Given the description of an element on the screen output the (x, y) to click on. 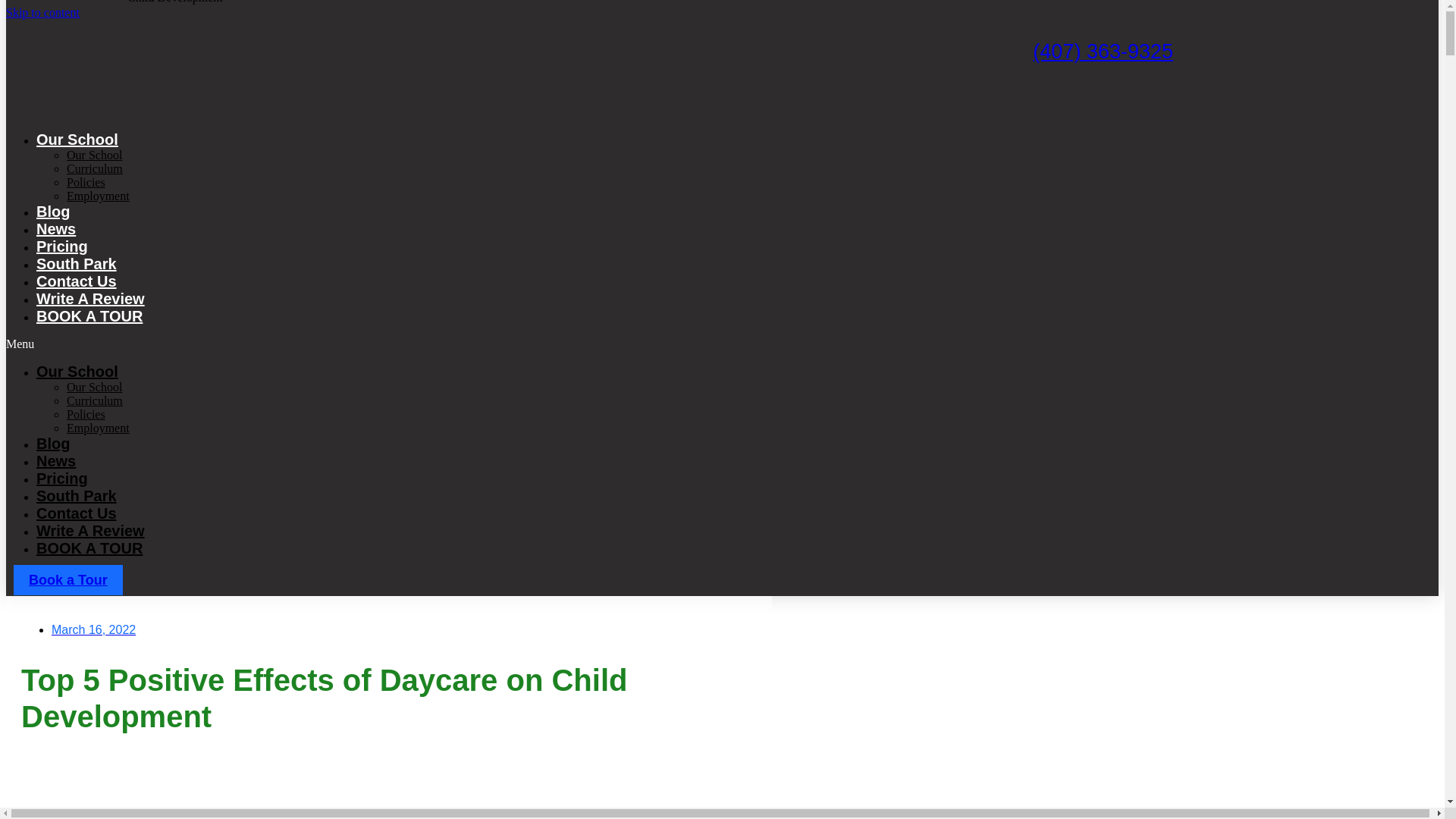
Employment (97, 195)
Pricing (61, 478)
Policies (85, 413)
Our School (94, 386)
News (55, 460)
Write A Review (90, 298)
Write A Review (90, 530)
Employment (97, 427)
Skip to content (42, 11)
Our School (94, 154)
